Given the description of an element on the screen output the (x, y) to click on. 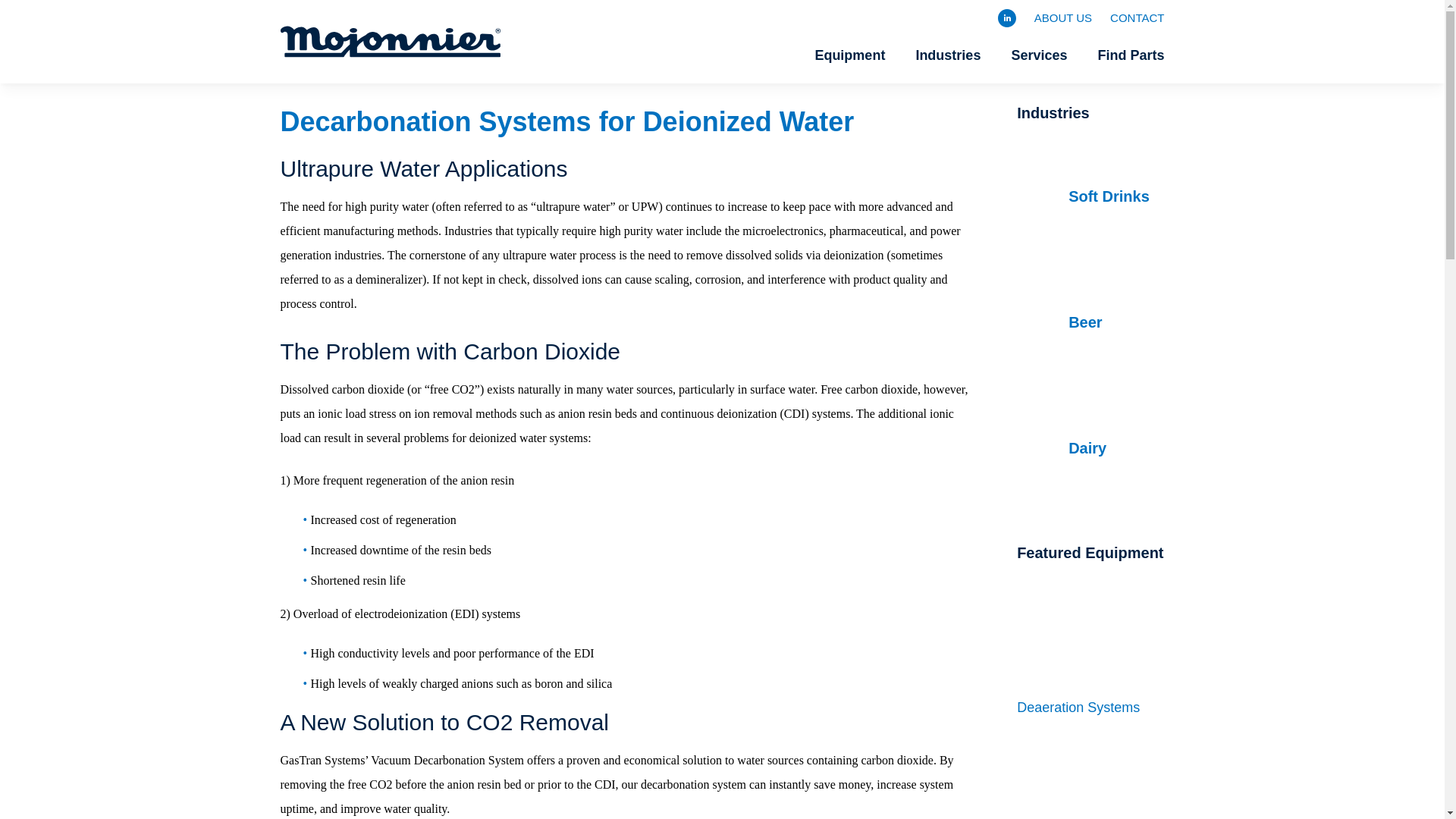
Find Parts (1130, 55)
Carbo Coolers (1089, 776)
Equipment (849, 55)
CONTACT (1136, 24)
Beer (1089, 322)
Industries (947, 55)
ABOUT US (1062, 24)
Dairy (1089, 448)
Soft Drinks (1089, 196)
Services (1038, 55)
